Given the description of an element on the screen output the (x, y) to click on. 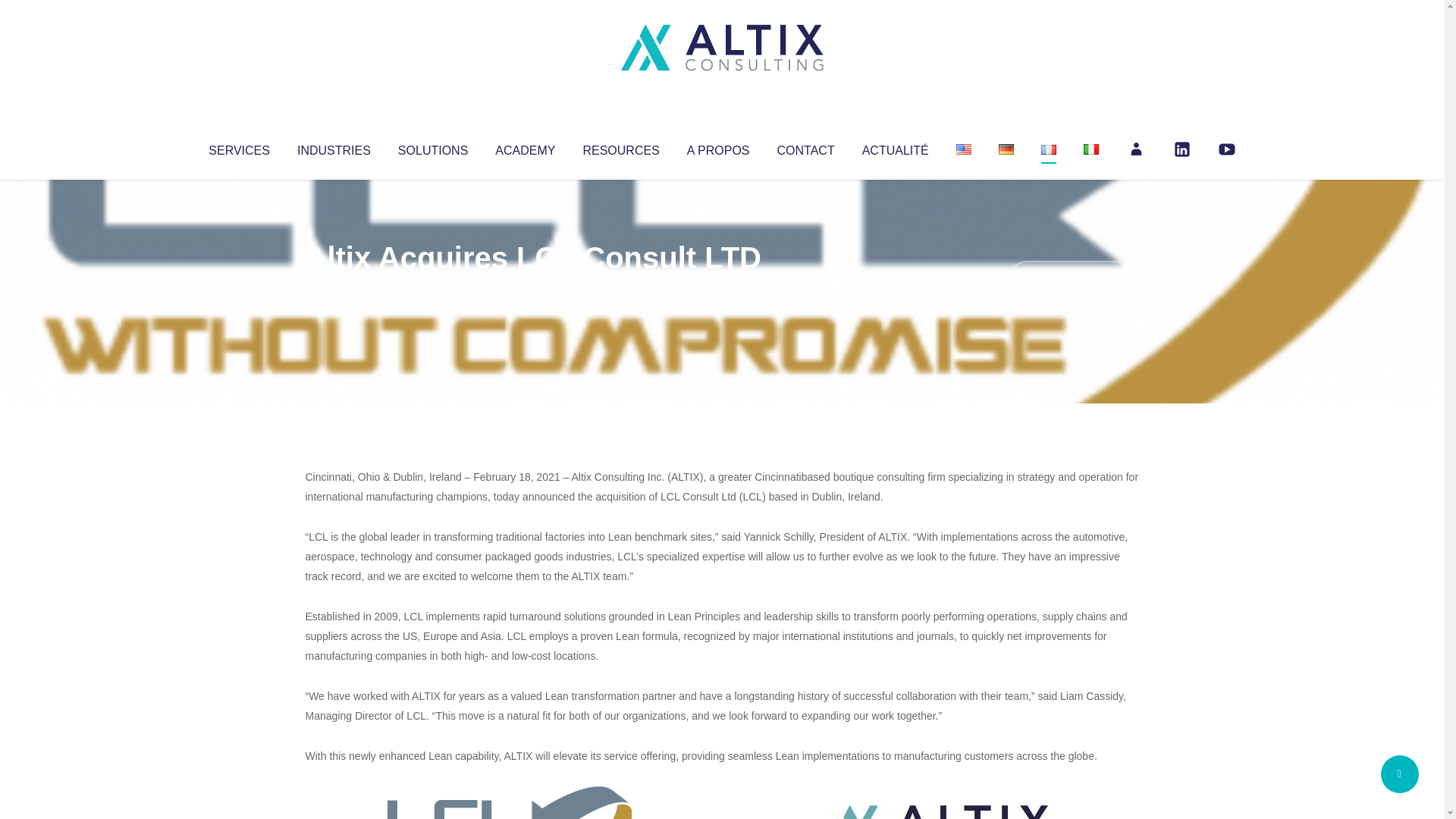
SERVICES (238, 146)
Articles par Altix (333, 287)
ACADEMY (524, 146)
RESOURCES (620, 146)
Altix (333, 287)
Uncategorized (530, 287)
INDUSTRIES (334, 146)
A PROPOS (718, 146)
No Comments (1073, 278)
SOLUTIONS (432, 146)
